Given the description of an element on the screen output the (x, y) to click on. 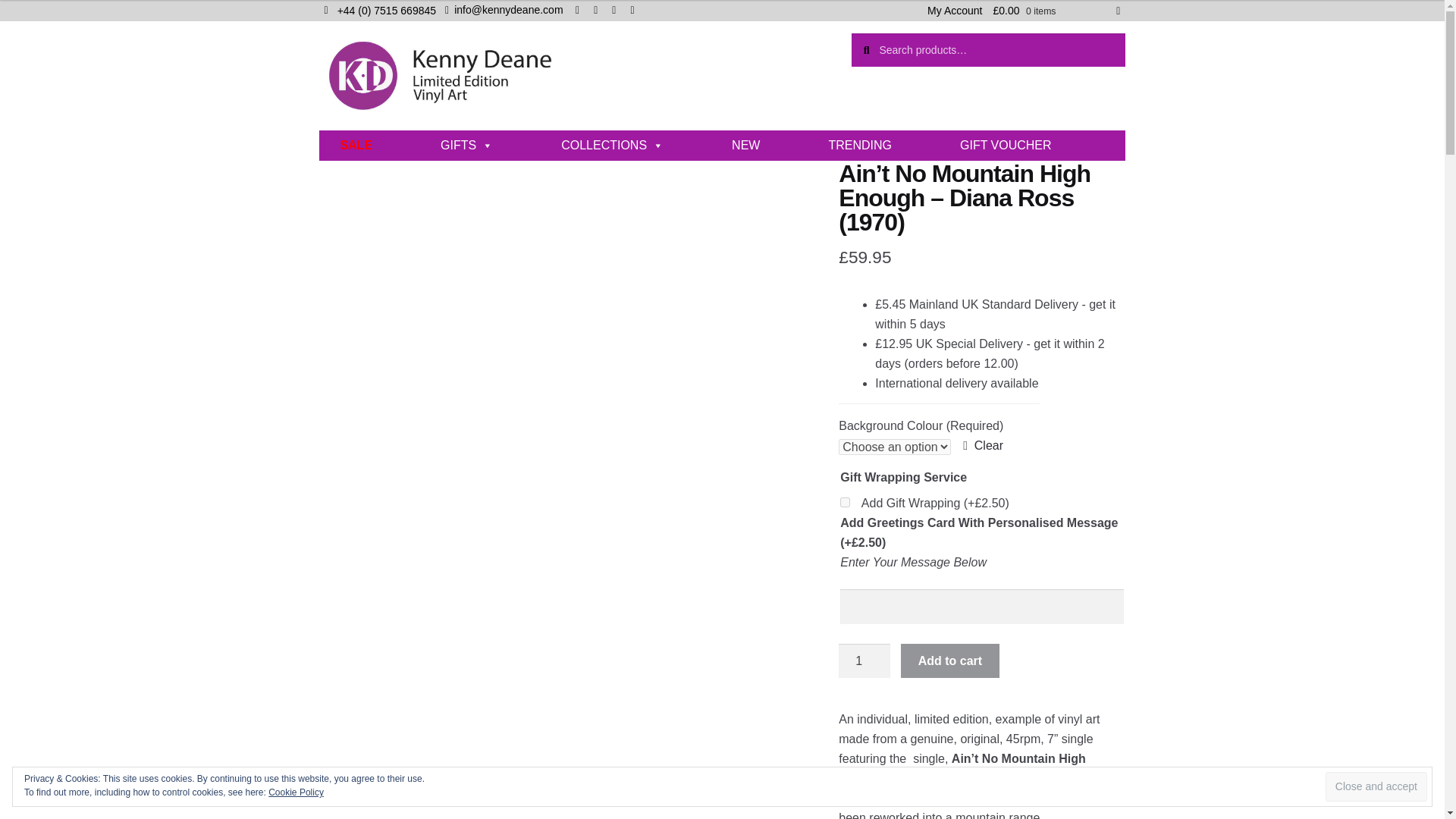
My Account (954, 10)
SALE (355, 145)
1 (863, 660)
GIFTS (466, 145)
add-gift-wrapping (845, 501)
View your shopping basket (1056, 10)
Close and accept (1375, 786)
